Given the description of an element on the screen output the (x, y) to click on. 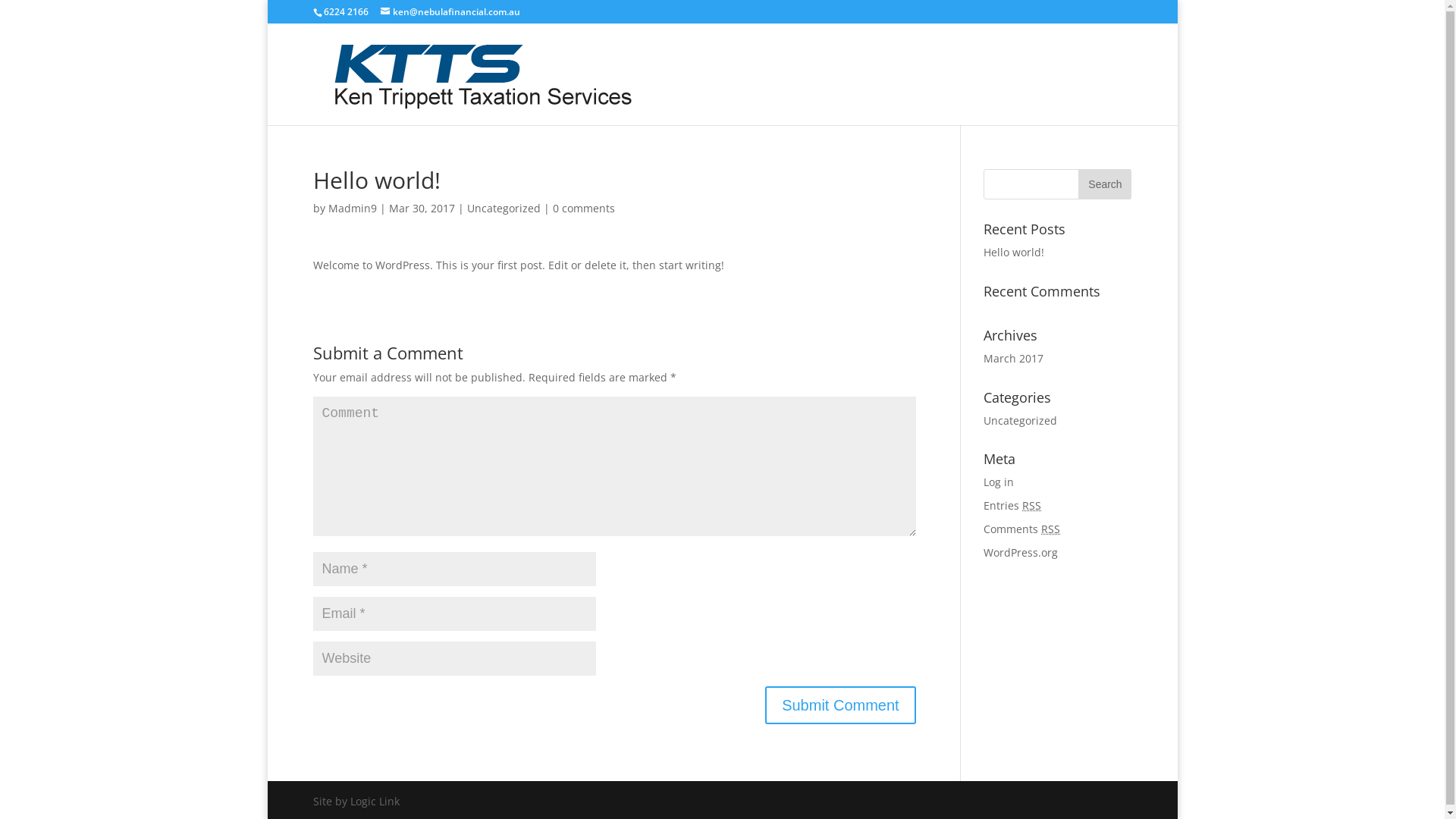
Madmin9 Element type: text (351, 207)
Submit Comment Element type: text (840, 705)
Comments RSS Element type: text (1021, 528)
Uncategorized Element type: text (503, 207)
Entries RSS Element type: text (1012, 505)
Search Element type: text (1104, 184)
Home Element type: text (970, 97)
Hello world! Element type: text (1013, 251)
WordPress.org Element type: text (1020, 552)
0 comments Element type: text (583, 207)
Uncategorized Element type: text (1020, 420)
Home Element type: text (1020, 97)
Log in Element type: text (998, 481)
ken@nebulafinancial.com.au Element type: text (450, 11)
Uncategorized Element type: text (1094, 97)
March 2017 Element type: text (1013, 358)
